Given the description of an element on the screen output the (x, y) to click on. 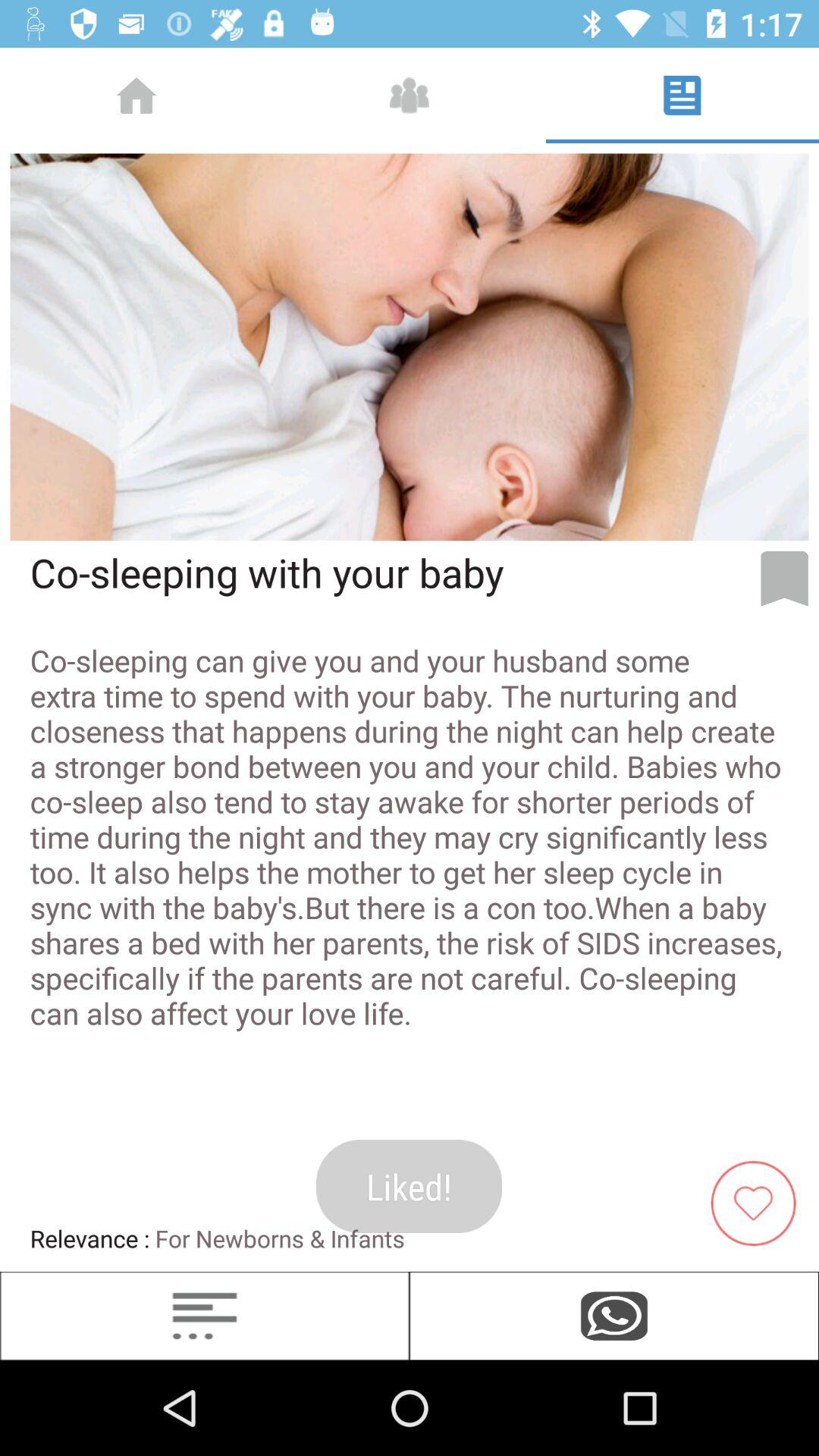
view sleep cycle (204, 1315)
